Given the description of an element on the screen output the (x, y) to click on. 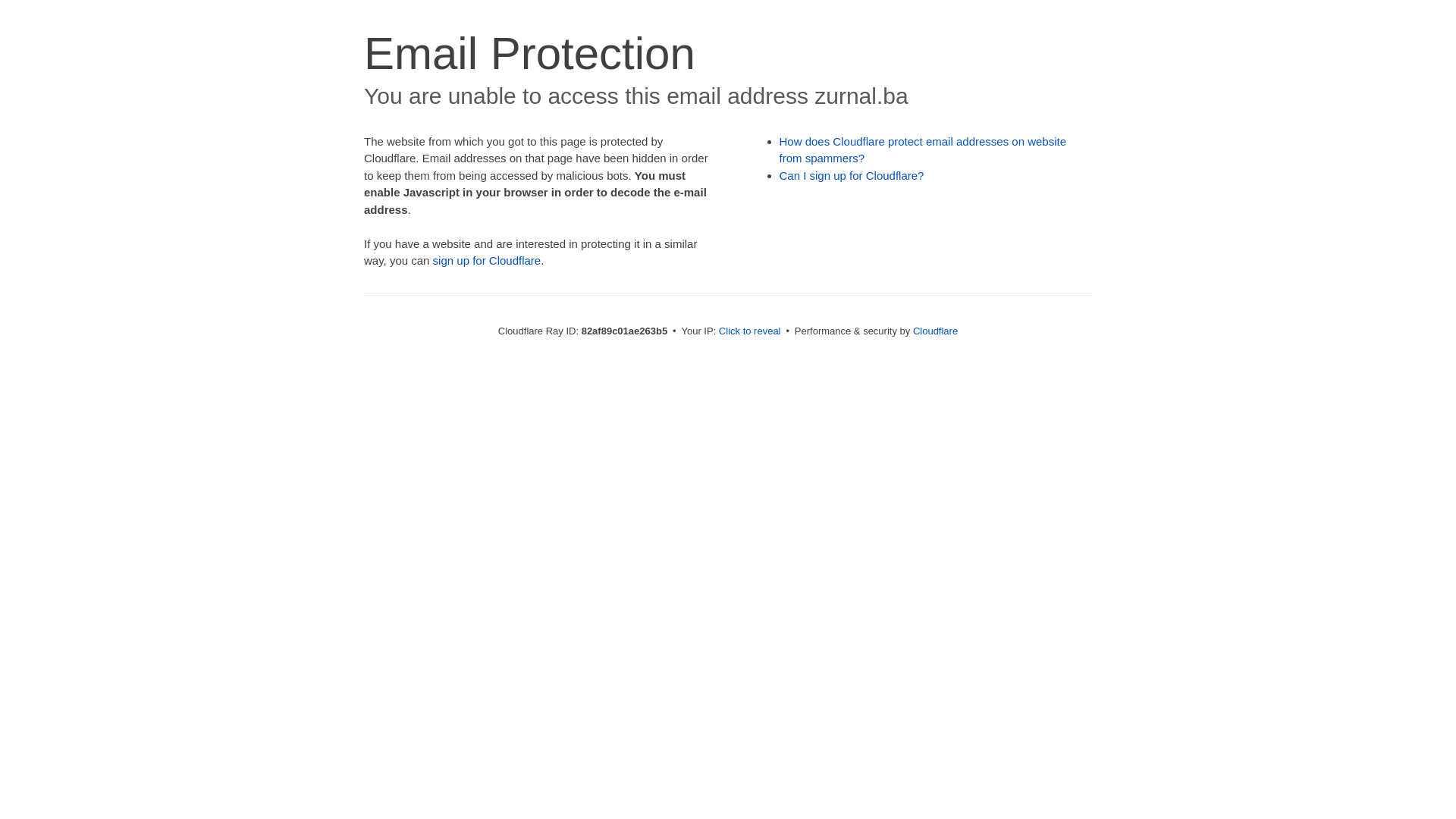
sign up for Cloudflare Element type: text (487, 260)
Cloudflare Element type: text (935, 330)
Click to reveal Element type: text (749, 330)
Can I sign up for Cloudflare? Element type: text (851, 175)
